Given the description of an element on the screen output the (x, y) to click on. 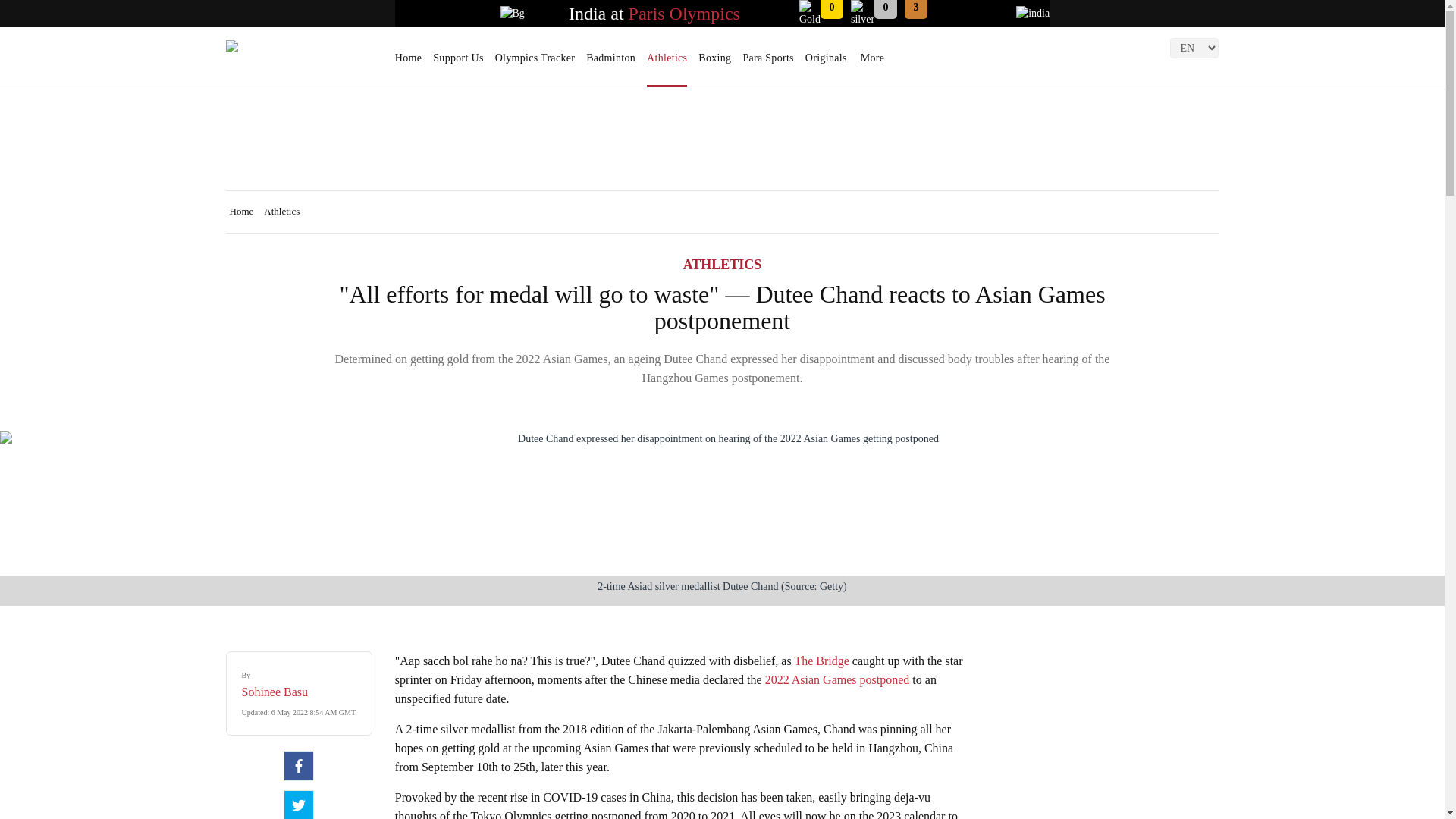
Paris Olympics (683, 13)
Support Us (457, 63)
Olympics Tracker (535, 63)
Para Sports (767, 63)
Badminton (610, 63)
